Given the description of an element on the screen output the (x, y) to click on. 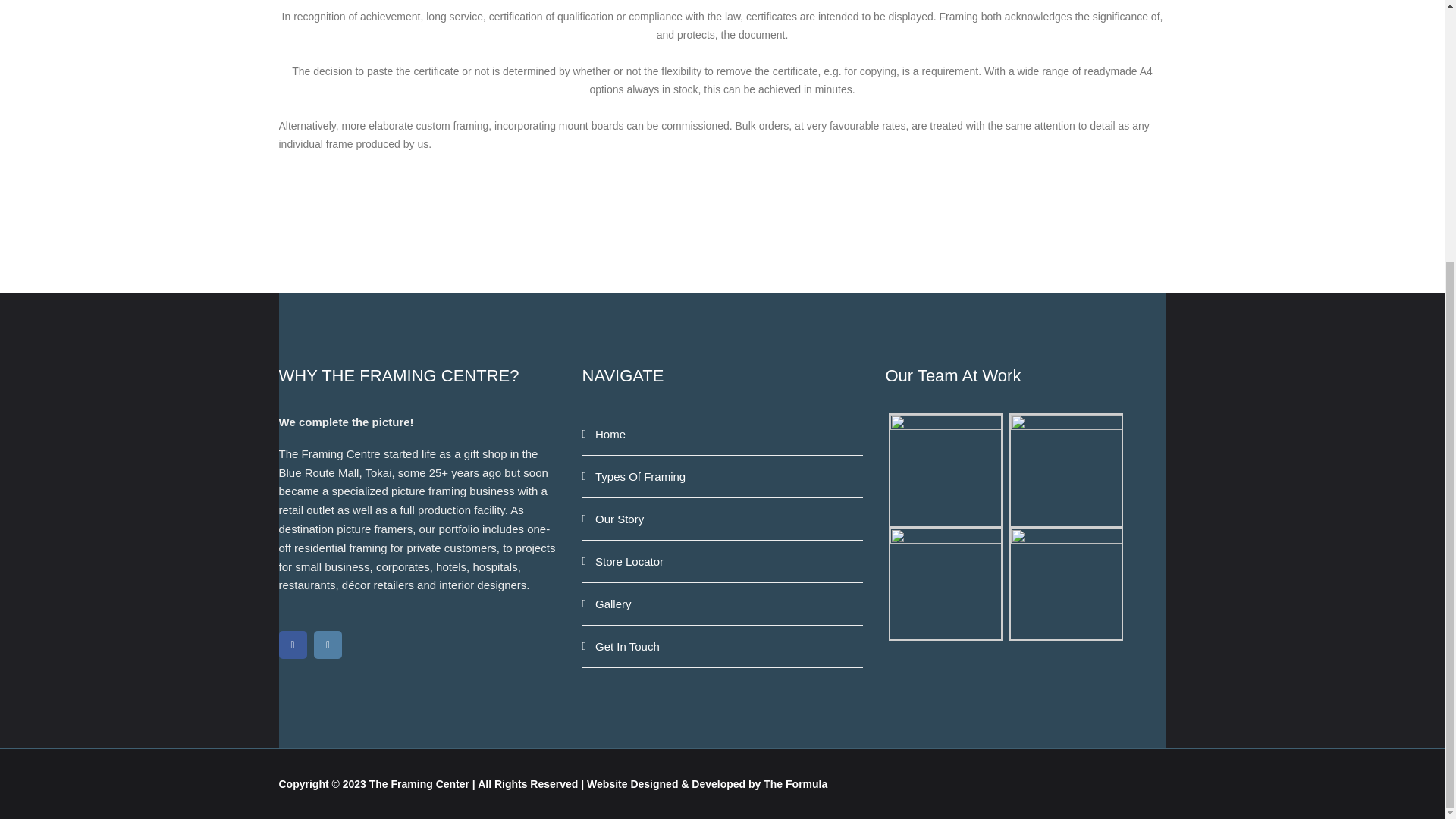
Types Of Framing (722, 476)
Store Locator (722, 561)
The Formula (794, 784)
Our Story (722, 518)
Get In Touch (722, 646)
Gallery (722, 604)
Home (722, 434)
